Given the description of an element on the screen output the (x, y) to click on. 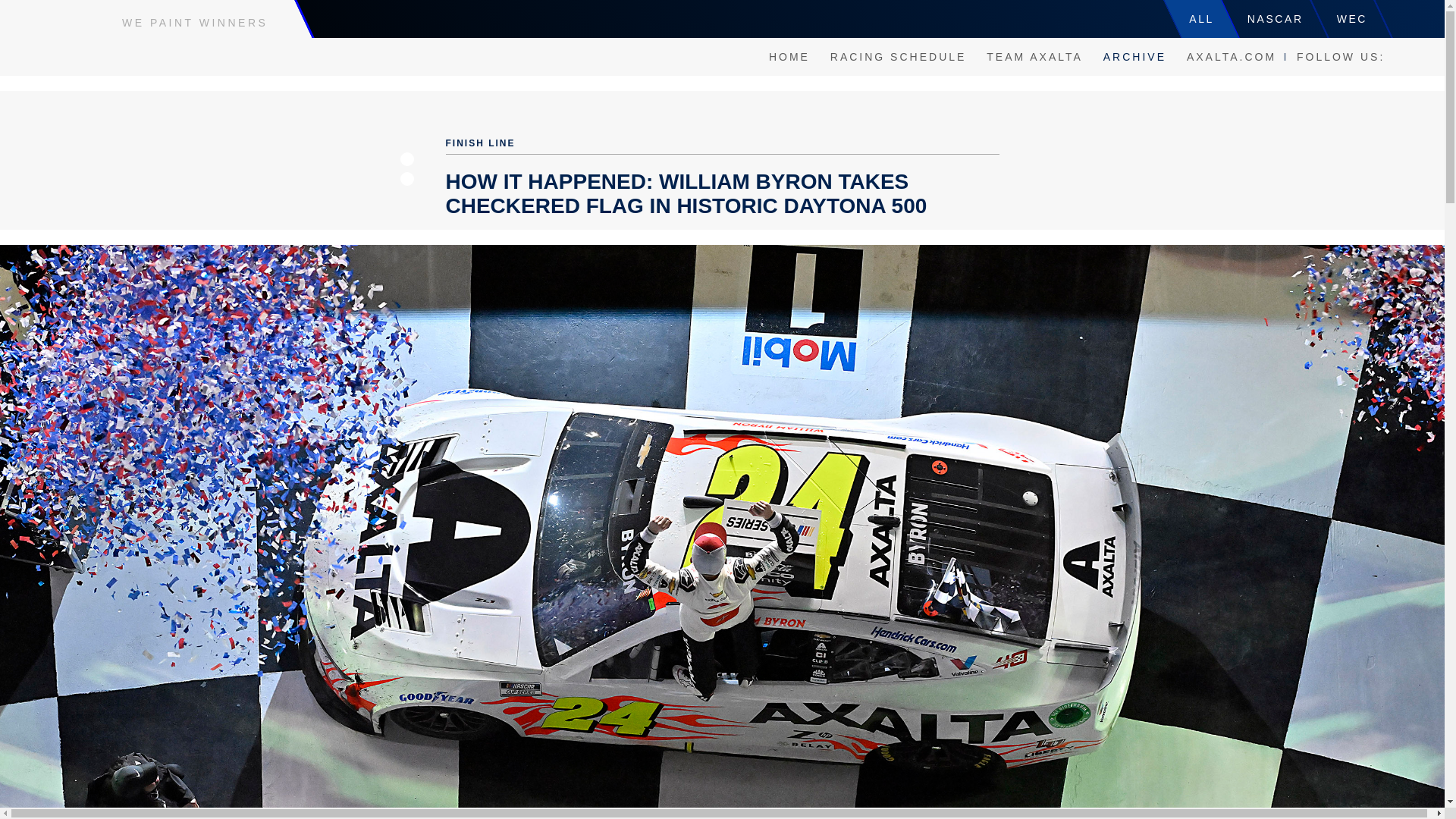
WEC (1352, 18)
ARCHIVE (1134, 56)
NASCAR (1275, 18)
TEAM AXALTA (1035, 56)
Share on Twitter (406, 178)
Share on Facebook (406, 159)
AXALTA.COM (1231, 56)
HOME (788, 56)
RACING SCHEDULE (897, 56)
ALL (1201, 18)
